Given the description of an element on the screen output the (x, y) to click on. 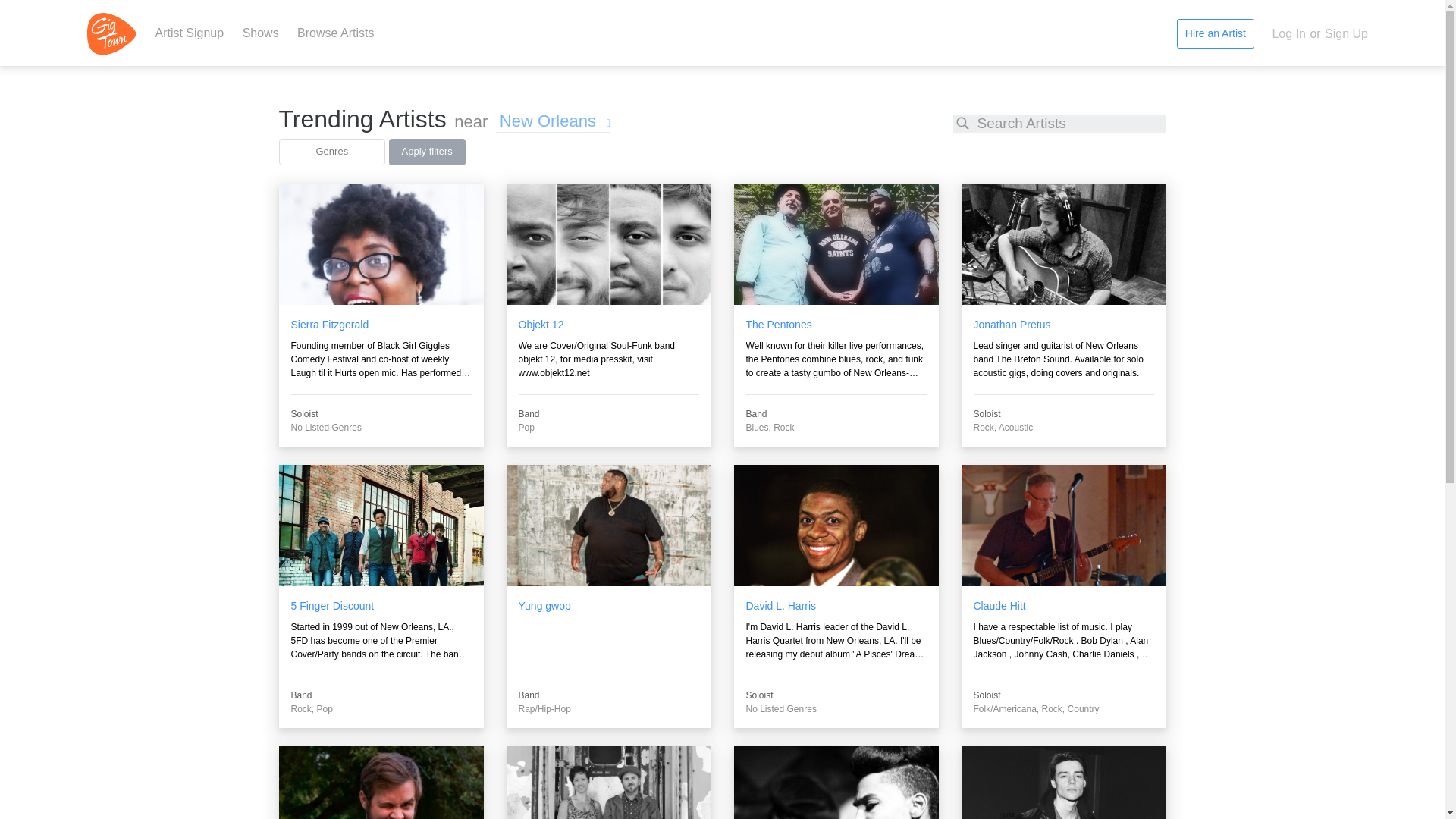
Home (113, 32)
Artist Signup (189, 32)
Hire an Artist (1214, 33)
Log In (1288, 33)
Genres (332, 151)
Artists (335, 32)
Artist Signup (189, 32)
Browse Artists (335, 32)
New Orleans (553, 117)
Shows (261, 32)
Apply filters (426, 151)
Sign Up (1345, 33)
